Given the description of an element on the screen output the (x, y) to click on. 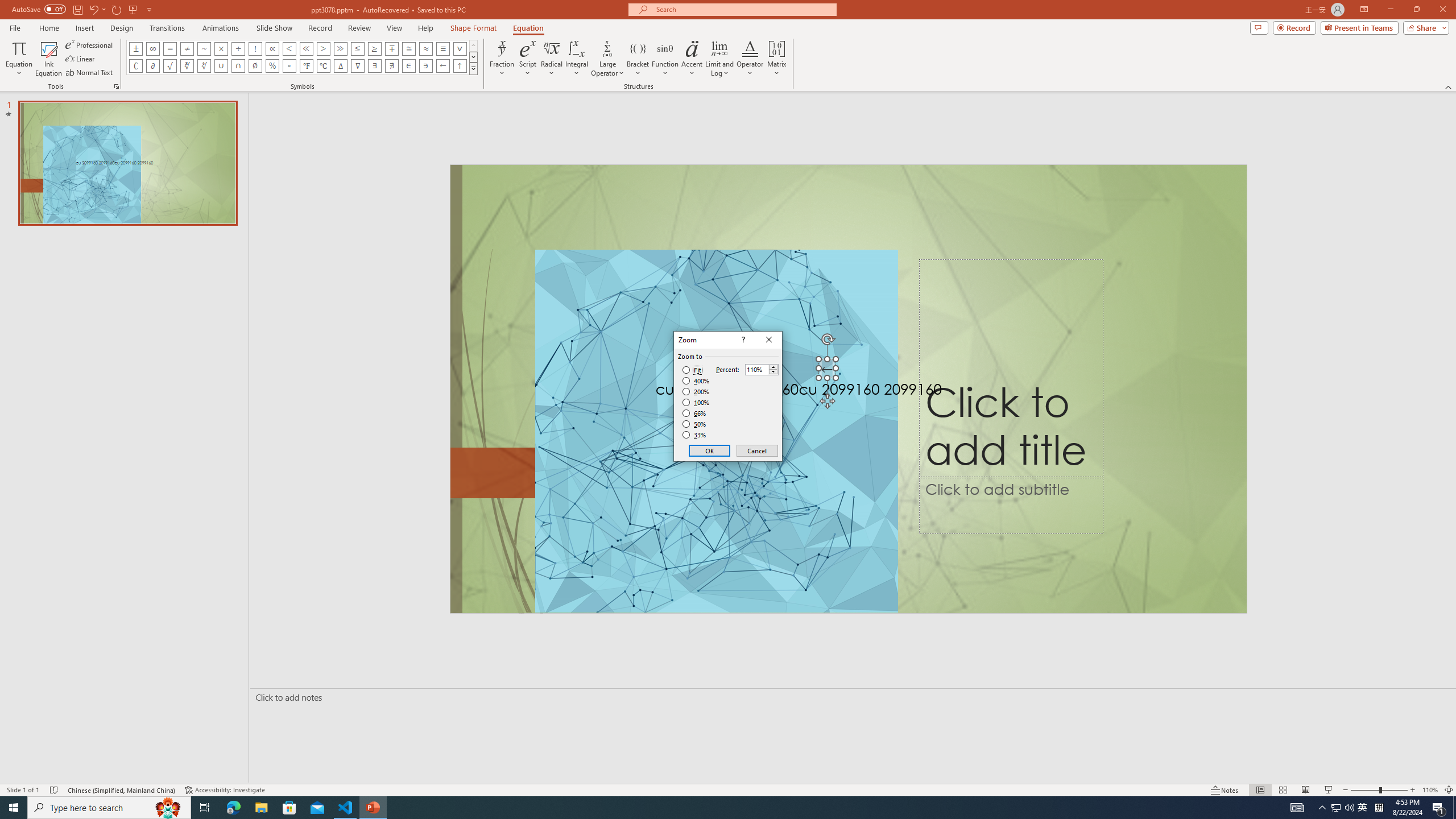
Operator (749, 58)
Fraction (502, 58)
Equation Symbol Identical To (442, 48)
Equation Symbol Union (221, 65)
Equation Symbol Less Than (289, 48)
Equation Symbol Fourth Root (203, 65)
Equation Symbol Cube Root (187, 65)
